Given the description of an element on the screen output the (x, y) to click on. 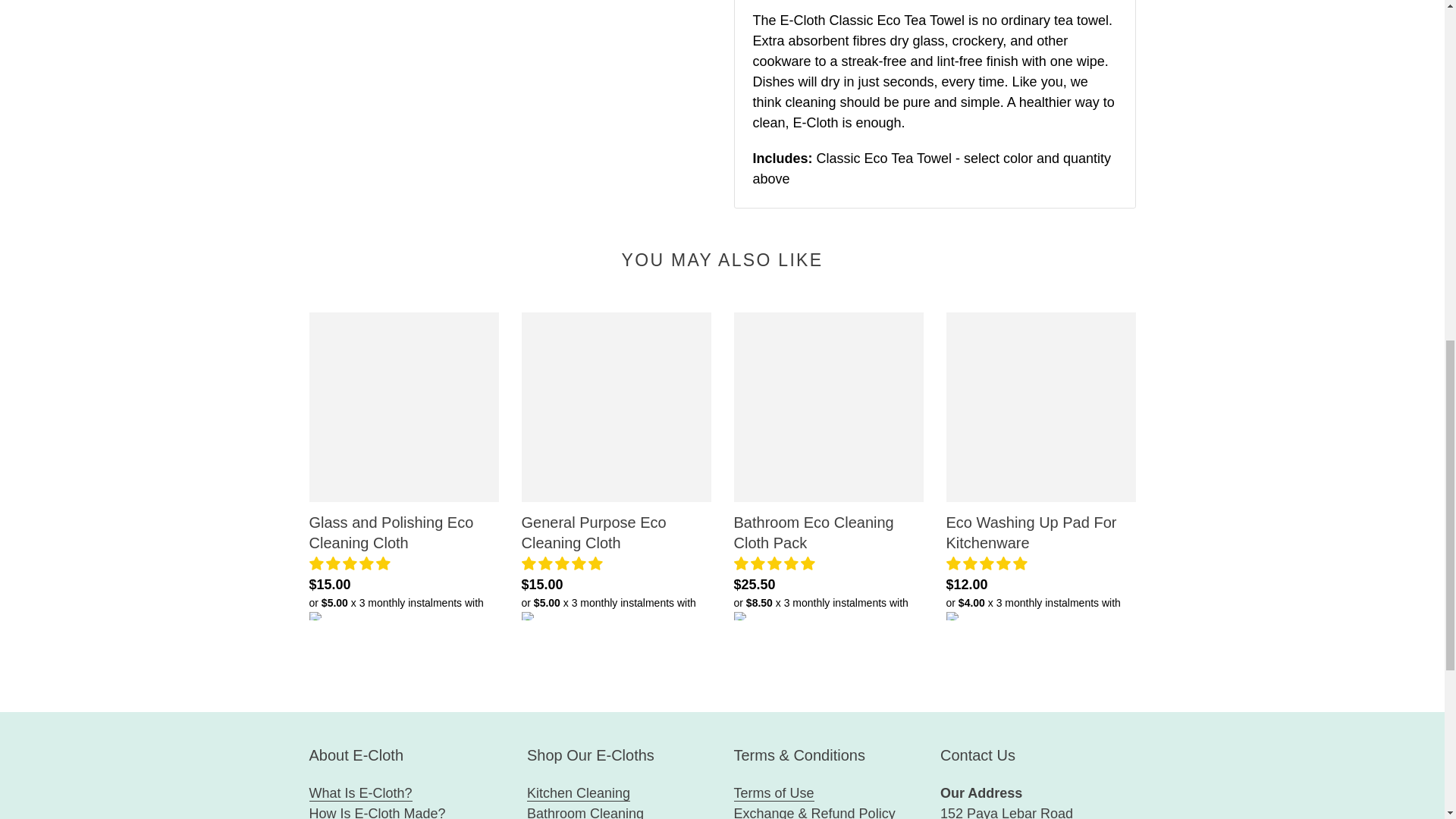
Terms of Use (773, 793)
Kitchen Cleaning (578, 793)
Bathroom Cleaning (585, 812)
